Given the description of an element on the screen output the (x, y) to click on. 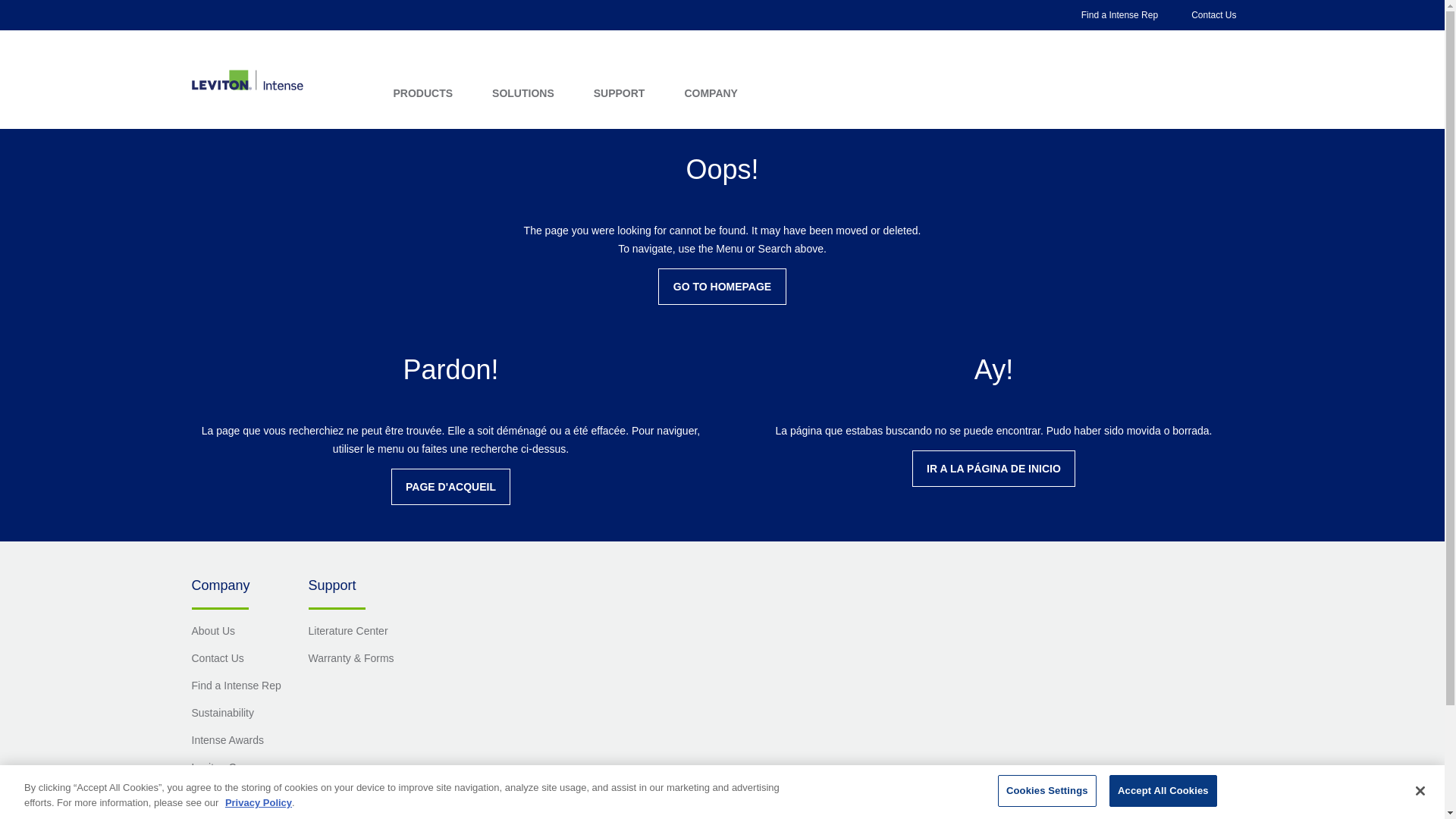
Find a Intense Rep (1119, 14)
SUPPORT (619, 93)
SOLUTIONS (523, 93)
Contact Us (1213, 14)
PRODUCTS (422, 93)
